Given the description of an element on the screen output the (x, y) to click on. 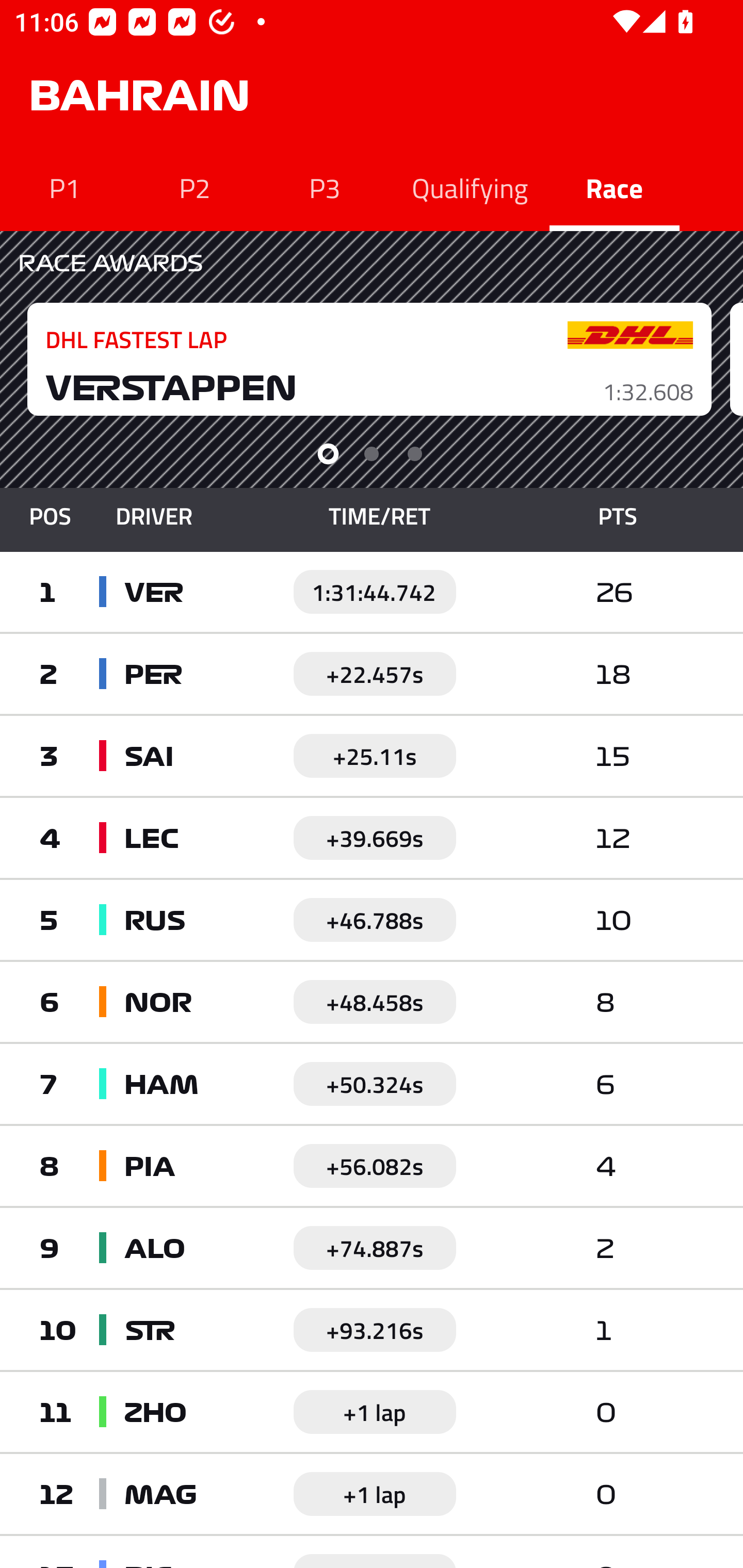
P1 (65, 187)
P2 (195, 187)
P3 (325, 187)
Qualifying (469, 187)
